Given the description of an element on the screen output the (x, y) to click on. 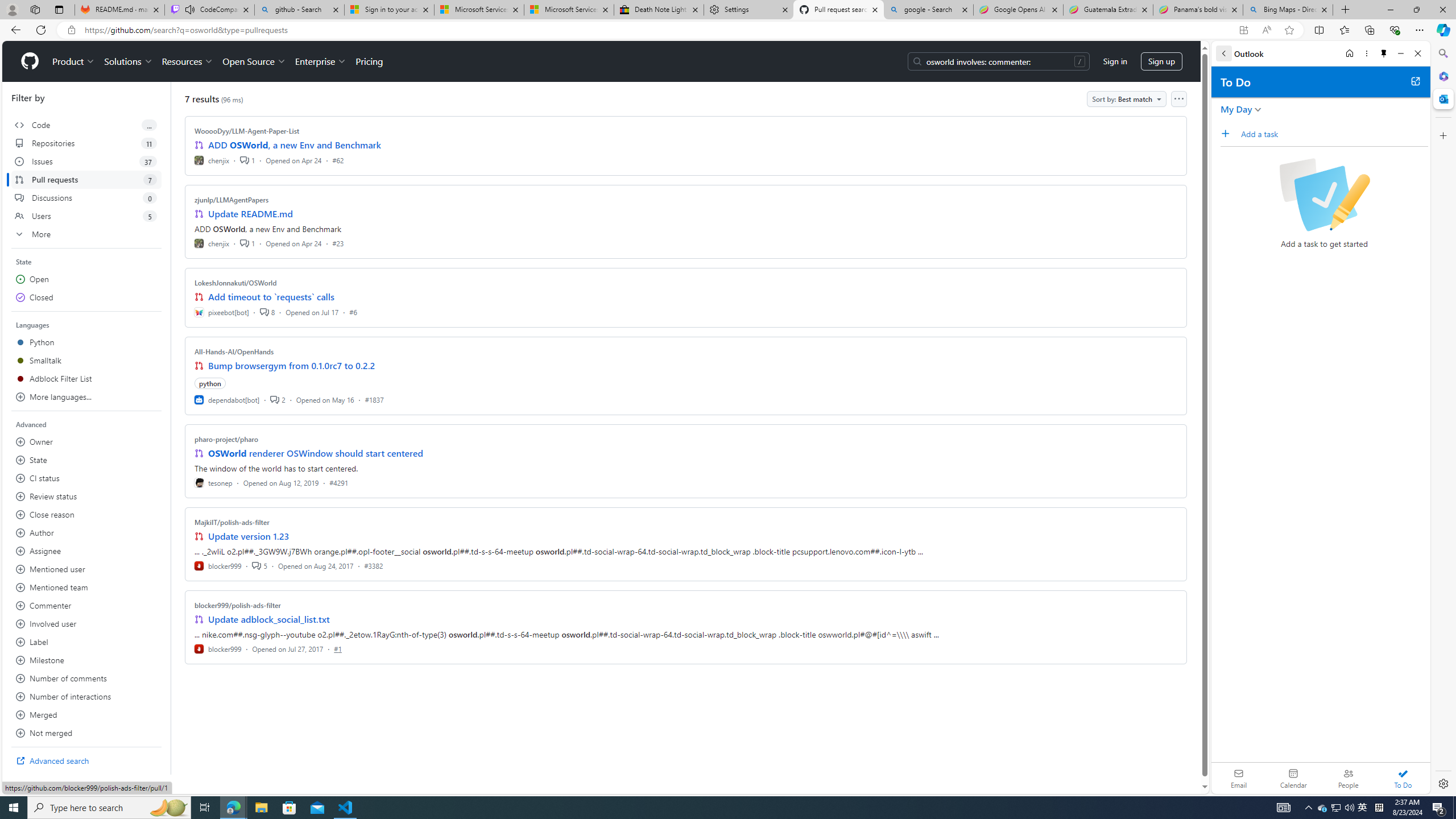
Resources (187, 60)
Advanced search (86, 760)
Sort by: Best match (1126, 98)
dependabot[bot] (227, 398)
#3382 (373, 565)
#62 (337, 159)
More languages... (86, 397)
